Given the description of an element on the screen output the (x, y) to click on. 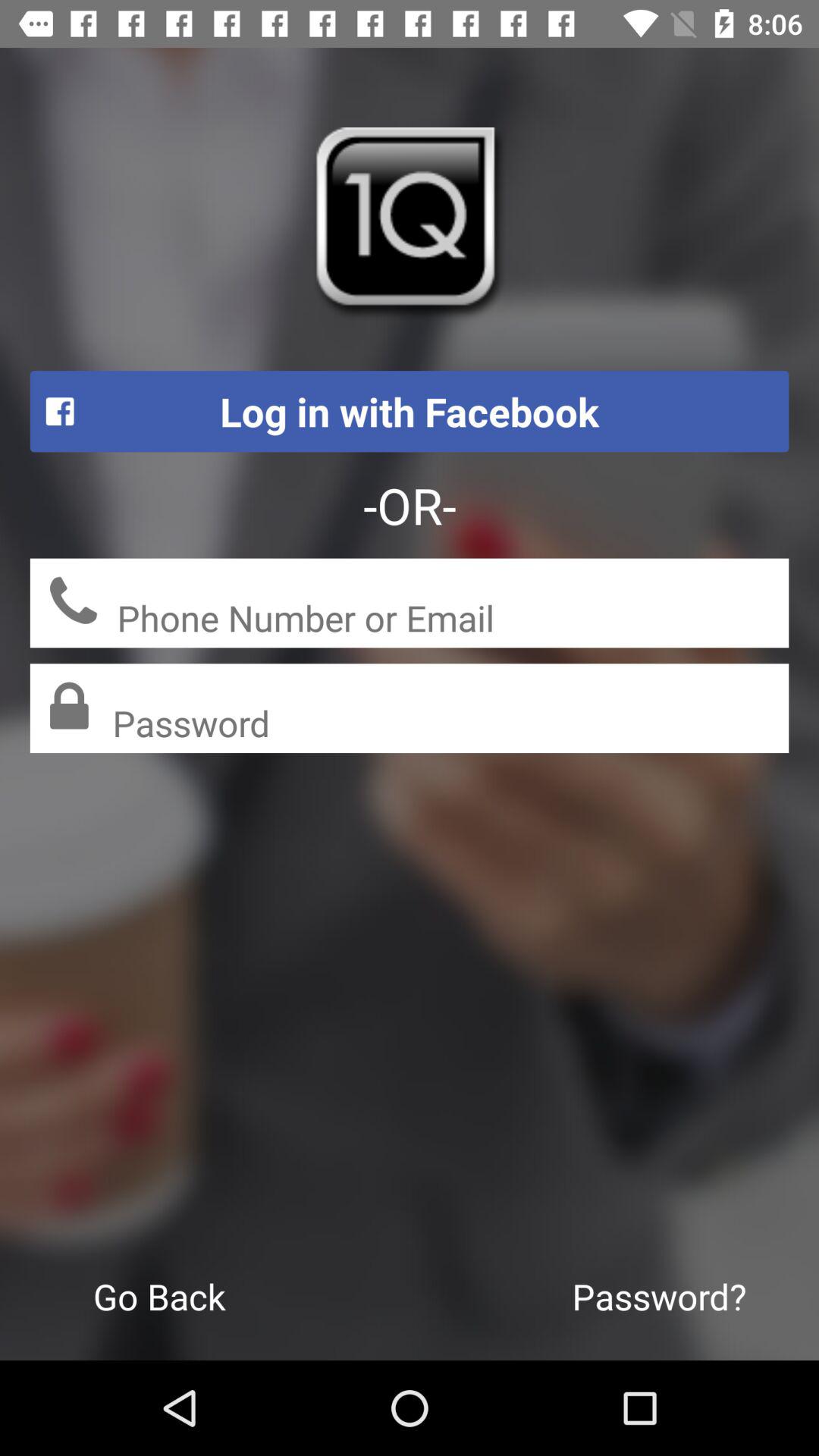
click go back (159, 1296)
